Given the description of an element on the screen output the (x, y) to click on. 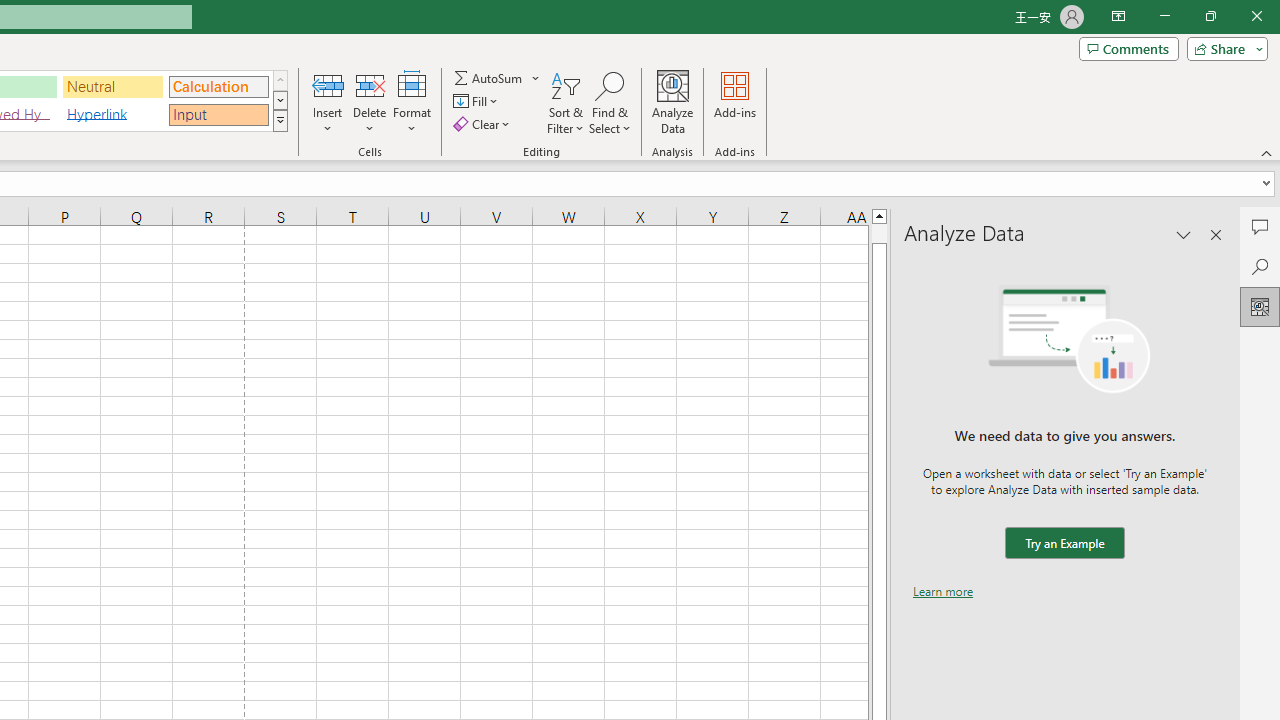
Hyperlink (113, 114)
Insert Cells (328, 84)
Sum (489, 78)
Find & Select (610, 102)
AutoSum (497, 78)
We need data to give you answers. Try an Example (1064, 543)
Neutral (113, 86)
